Given the description of an element on the screen output the (x, y) to click on. 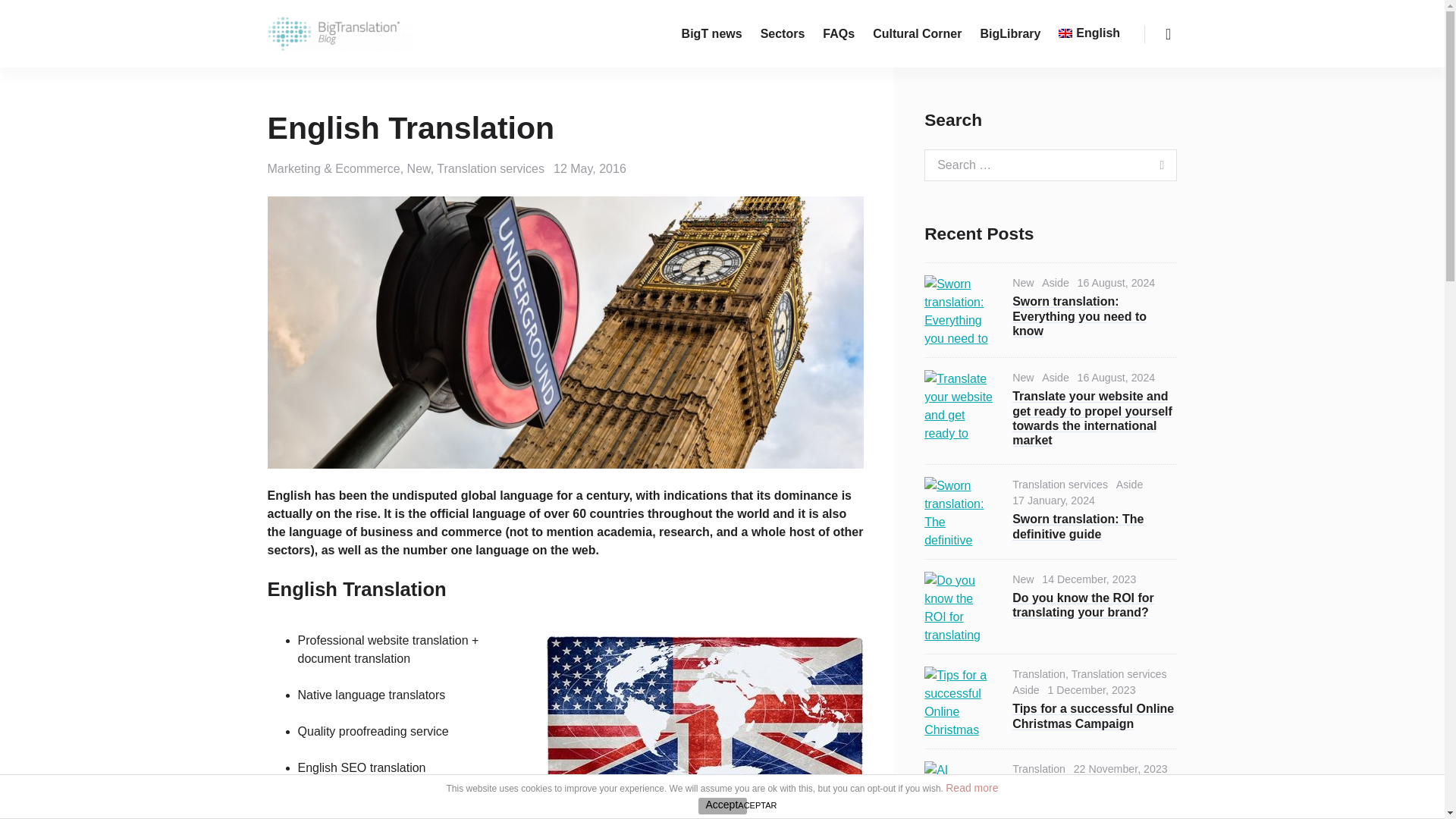
New (418, 168)
Translation services (490, 168)
BigLibrary (1010, 33)
BigT news (711, 33)
12 May, 2016 (589, 168)
English (1089, 33)
English (287, 803)
Sectors (782, 33)
Cultural Corner (917, 33)
English (1089, 33)
